Given the description of an element on the screen output the (x, y) to click on. 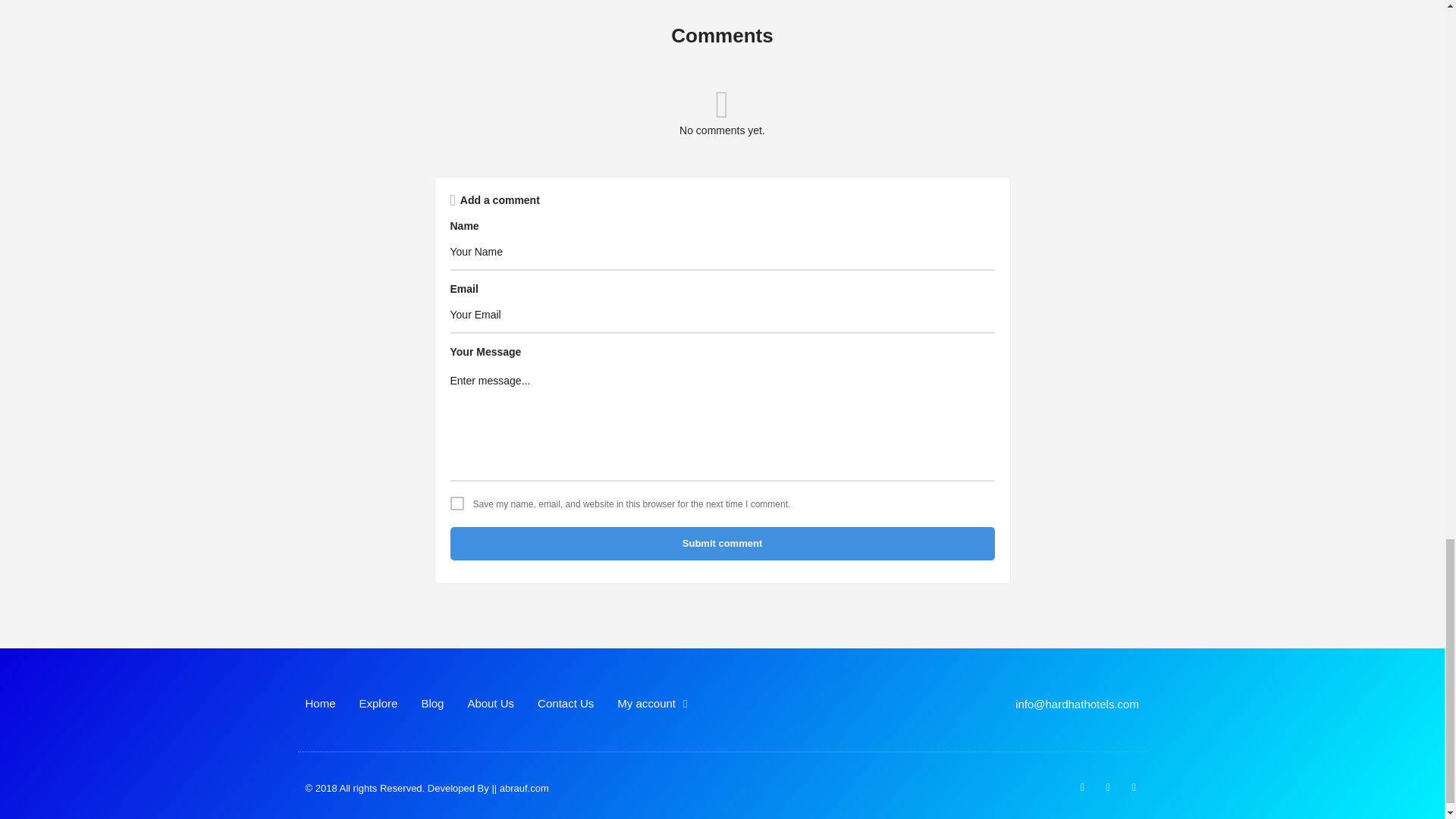
Submit comment (721, 543)
My account (652, 703)
Home (319, 703)
Contact Us (565, 703)
Blog (432, 703)
About Us (490, 703)
Explore (378, 703)
